Given the description of an element on the screen output the (x, y) to click on. 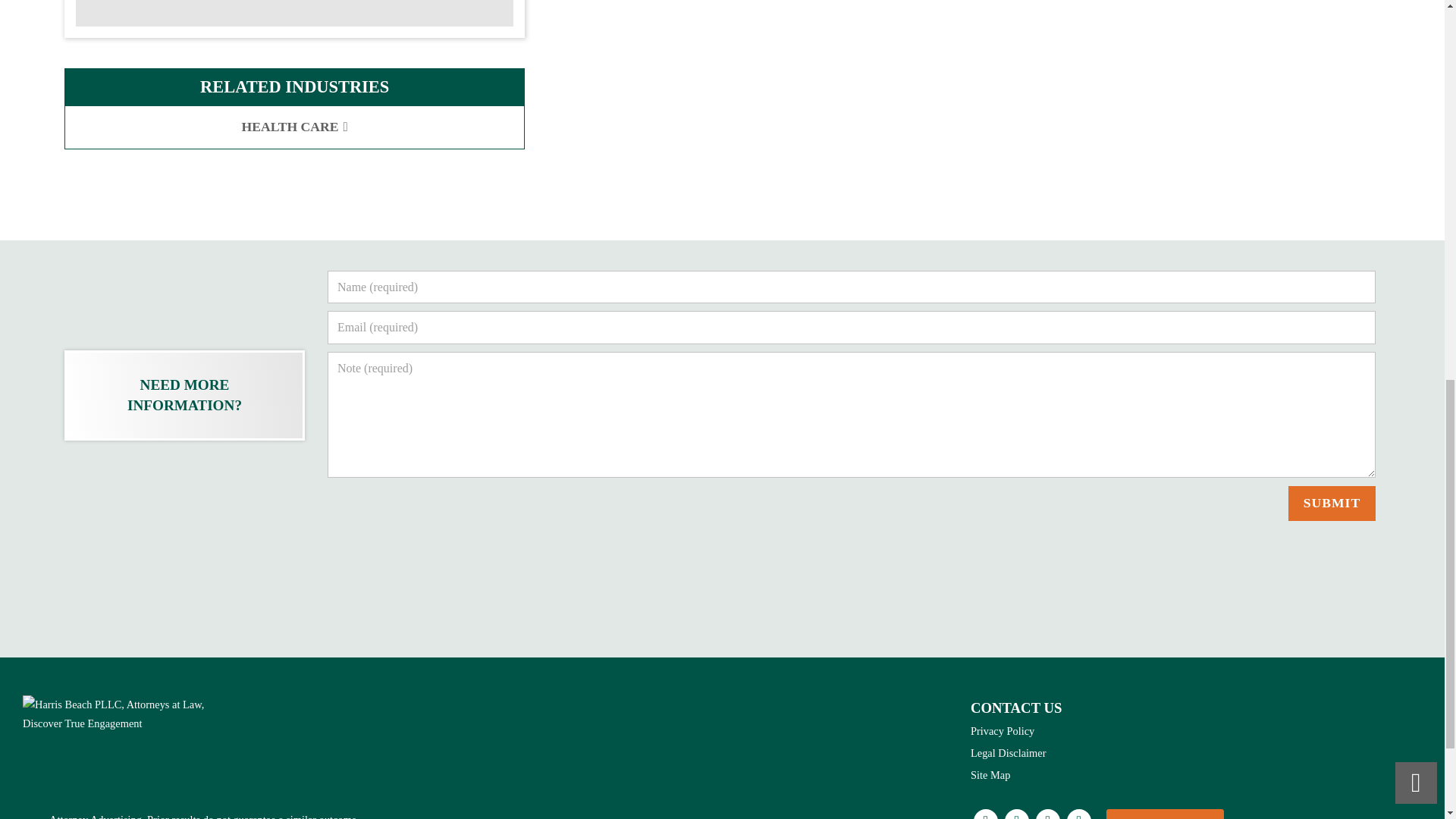
harris-beach-full-logo-white (117, 714)
